Given the description of an element on the screen output the (x, y) to click on. 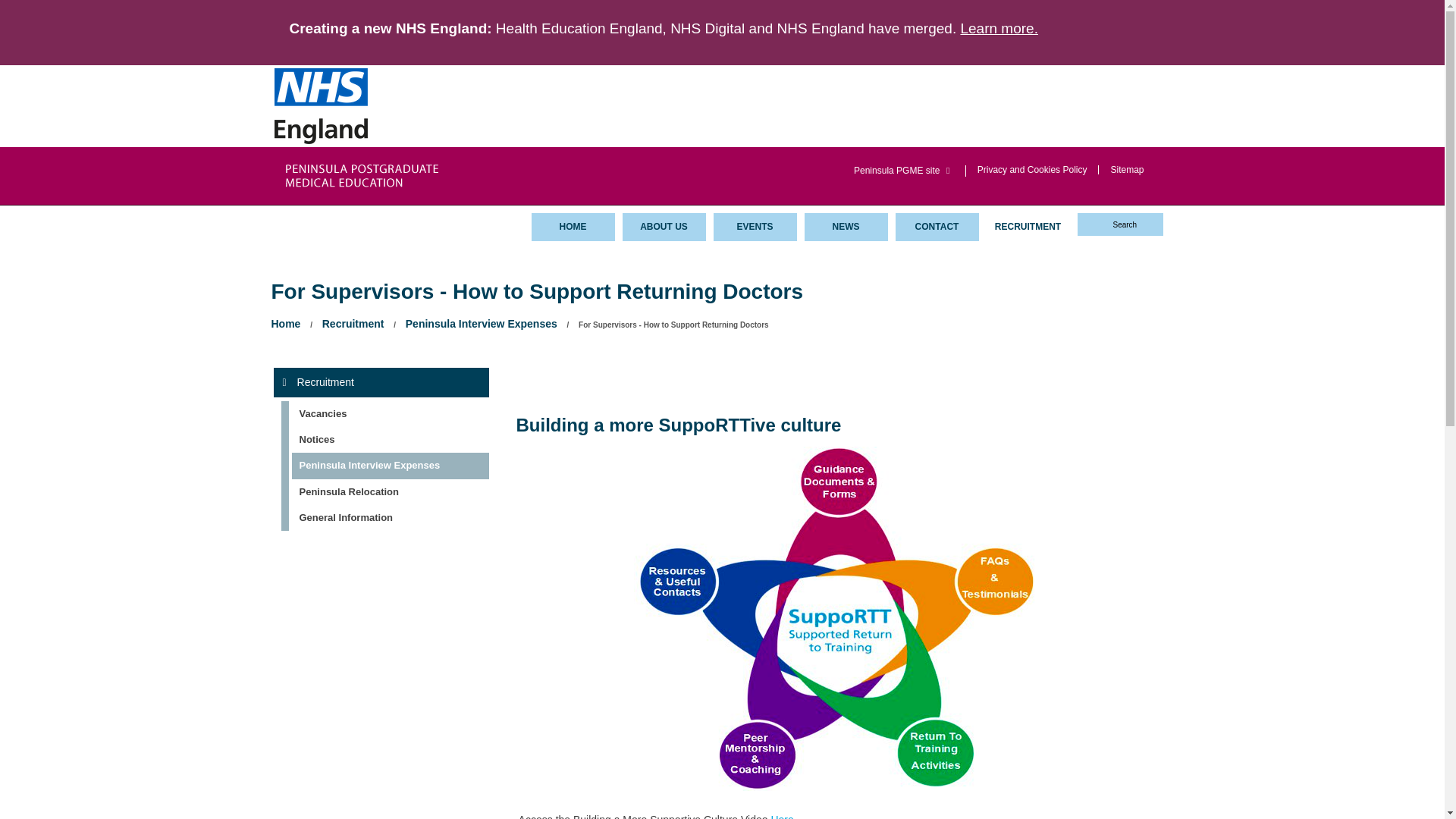
Events (754, 226)
General Information (384, 517)
Recruitment (352, 322)
Privacy and Cookies Policy (1031, 168)
Peninsula PGME site (903, 170)
Recruitment (1026, 226)
Home (285, 322)
Peninsula Relocation (384, 492)
Peninsula Interview Expenses (384, 465)
Notices (384, 439)
building a more supportive culture video (781, 816)
News (844, 226)
EVENTS (754, 226)
Sitemap (1125, 168)
